Given the description of an element on the screen output the (x, y) to click on. 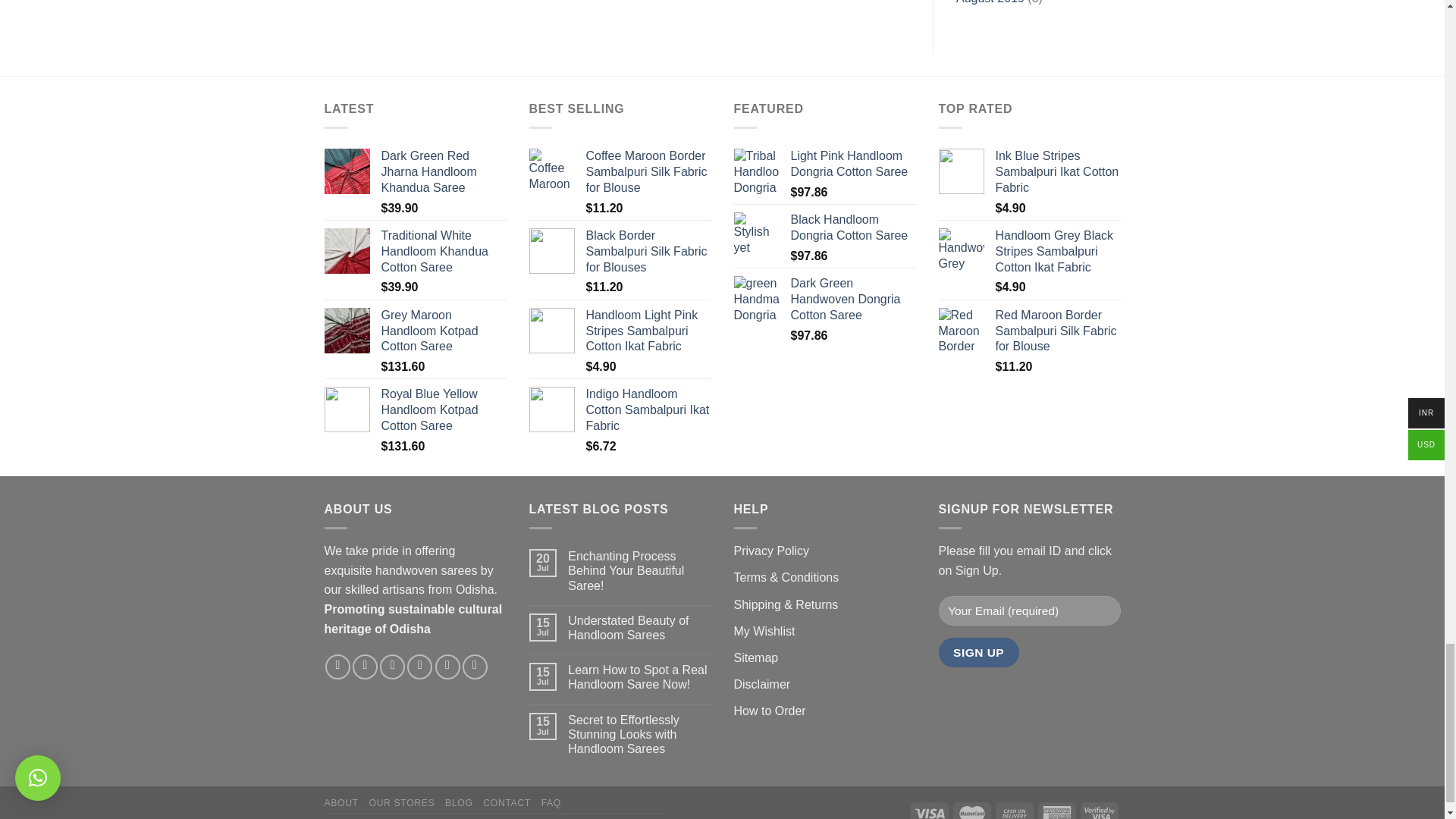
Enchanting Process Behind Your Beautiful Saree! (638, 570)
Secret to Effortlessly Stunning Looks with Handloom Sarees (638, 734)
Learn How to Spot a Real Handloom Saree Now! (638, 676)
Understated Beauty of Handloom Sarees (638, 627)
Sign Up (979, 652)
